Given the description of an element on the screen output the (x, y) to click on. 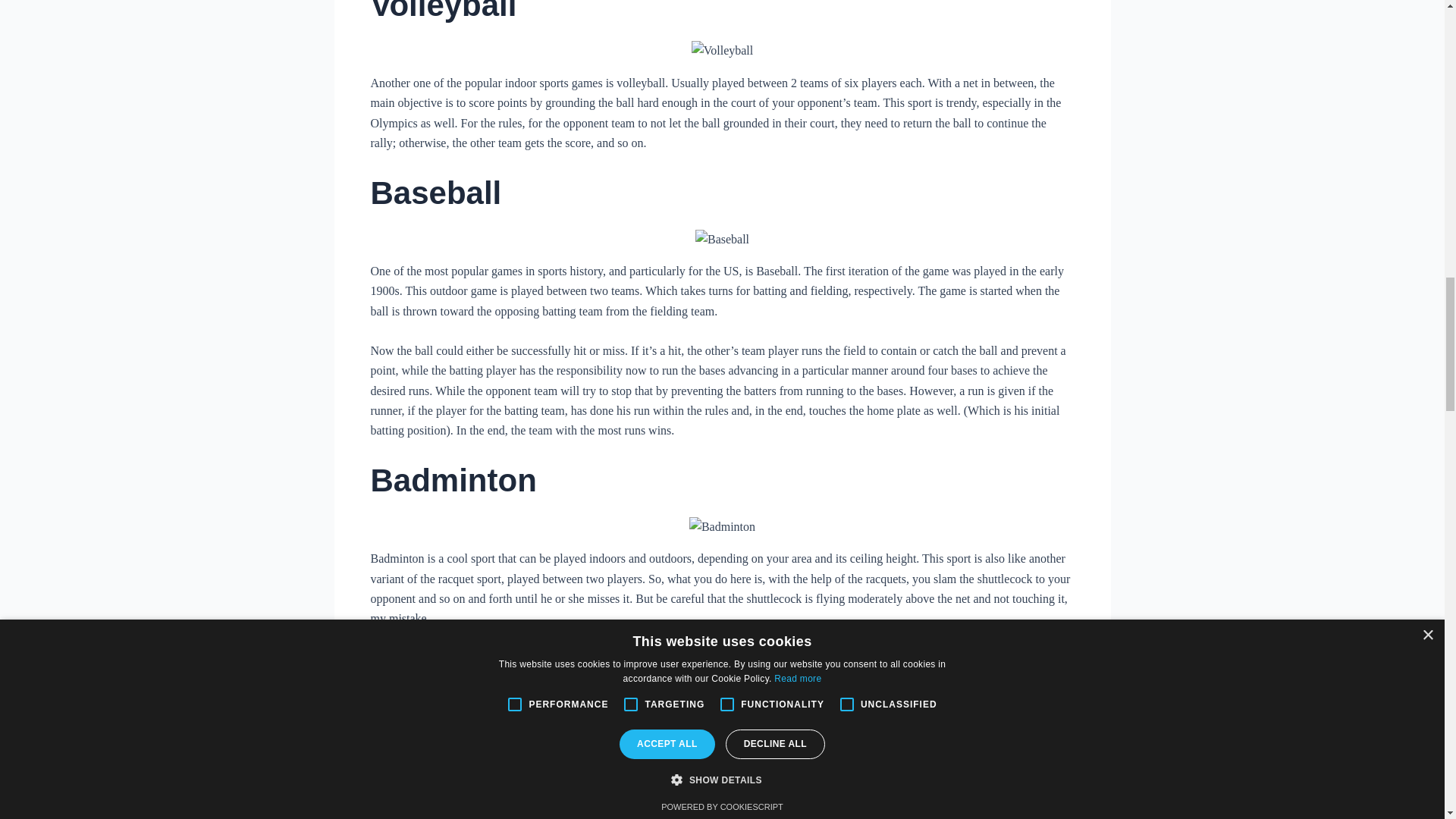
Quotes Of Famous Sportsmen For Times Of Your Apathy (722, 662)
